Given the description of an element on the screen output the (x, y) to click on. 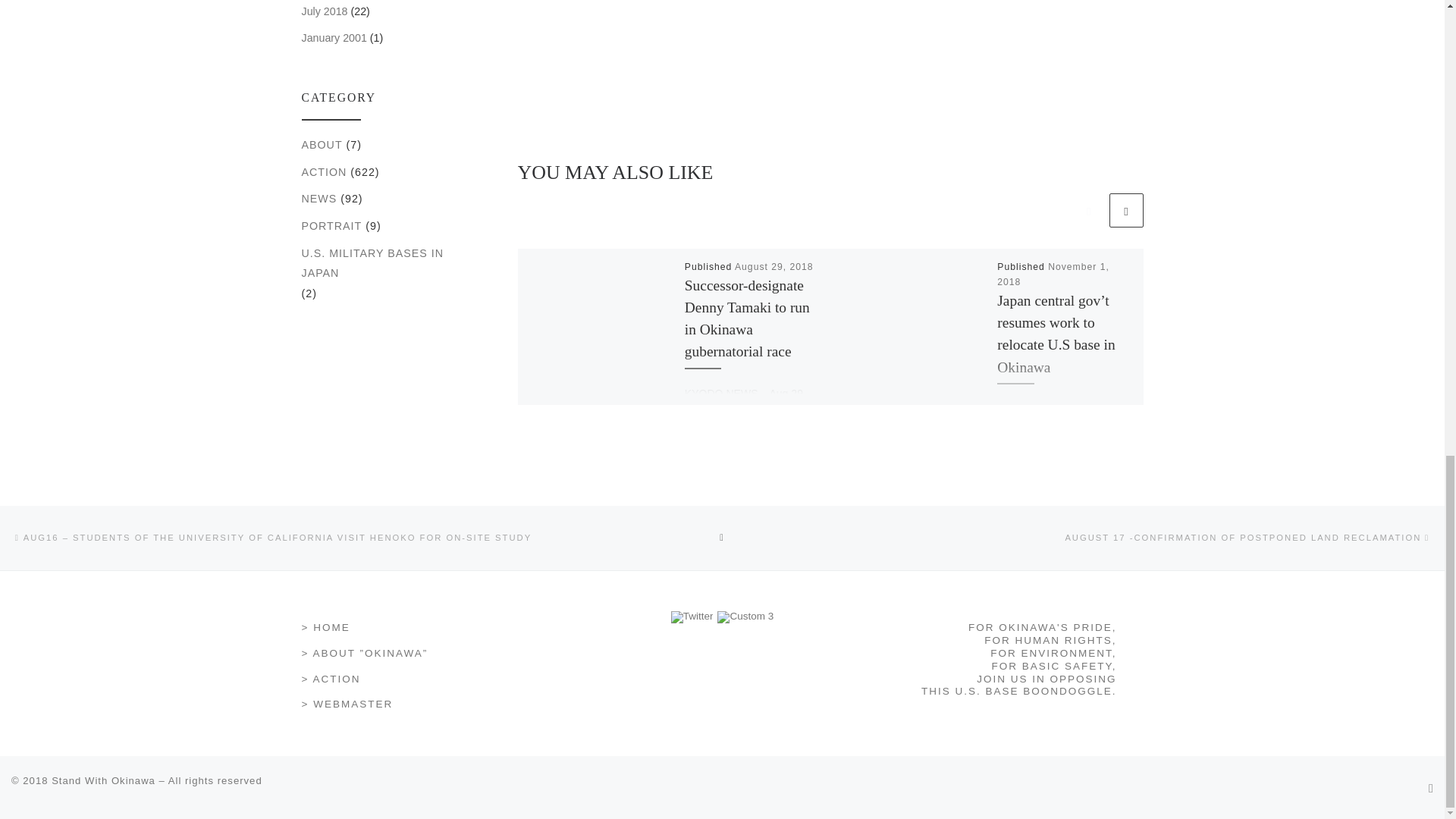
August 29, 2018 (774, 266)
November 1, 2018 (1053, 274)
Previous related articles (1088, 210)
Next related articles (1125, 210)
